Given the description of an element on the screen output the (x, y) to click on. 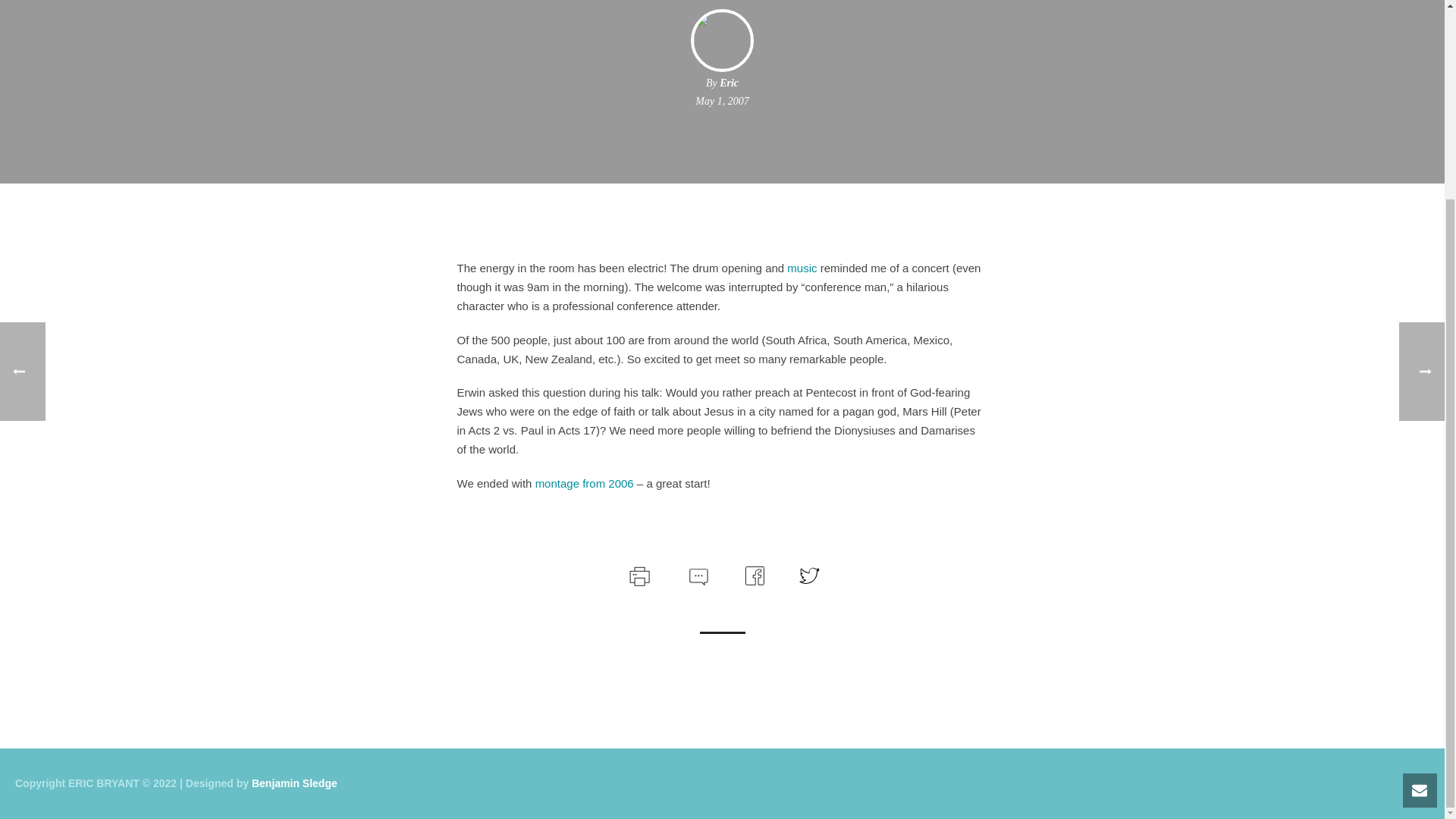
montage from 2006 (584, 482)
Eric (728, 82)
music (801, 267)
May 1, 2007 (721, 101)
Print (638, 573)
Benjamin Sledge (294, 783)
